Given the description of an element on the screen output the (x, y) to click on. 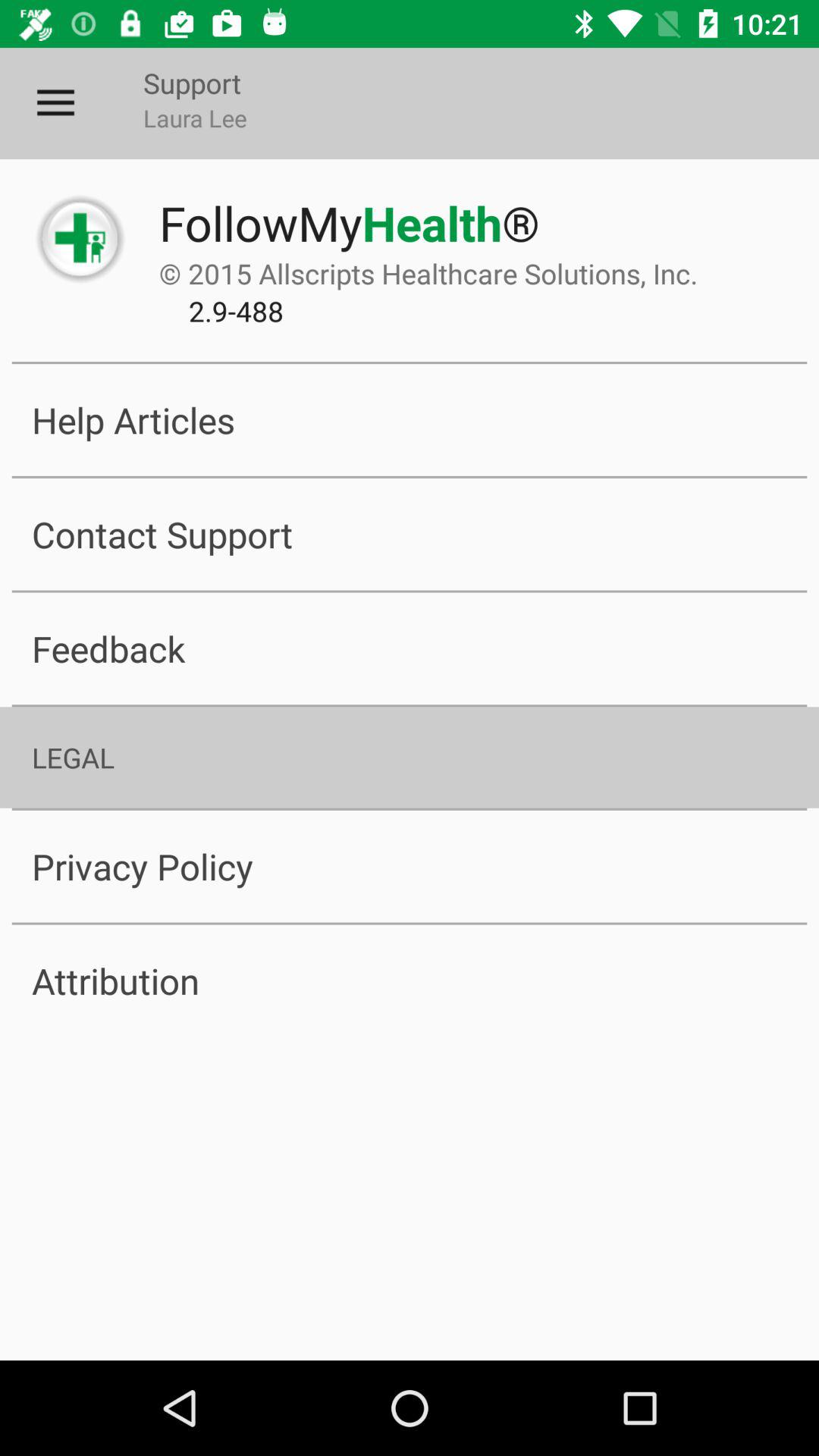
open the privacy policy item (409, 866)
